Given the description of an element on the screen output the (x, y) to click on. 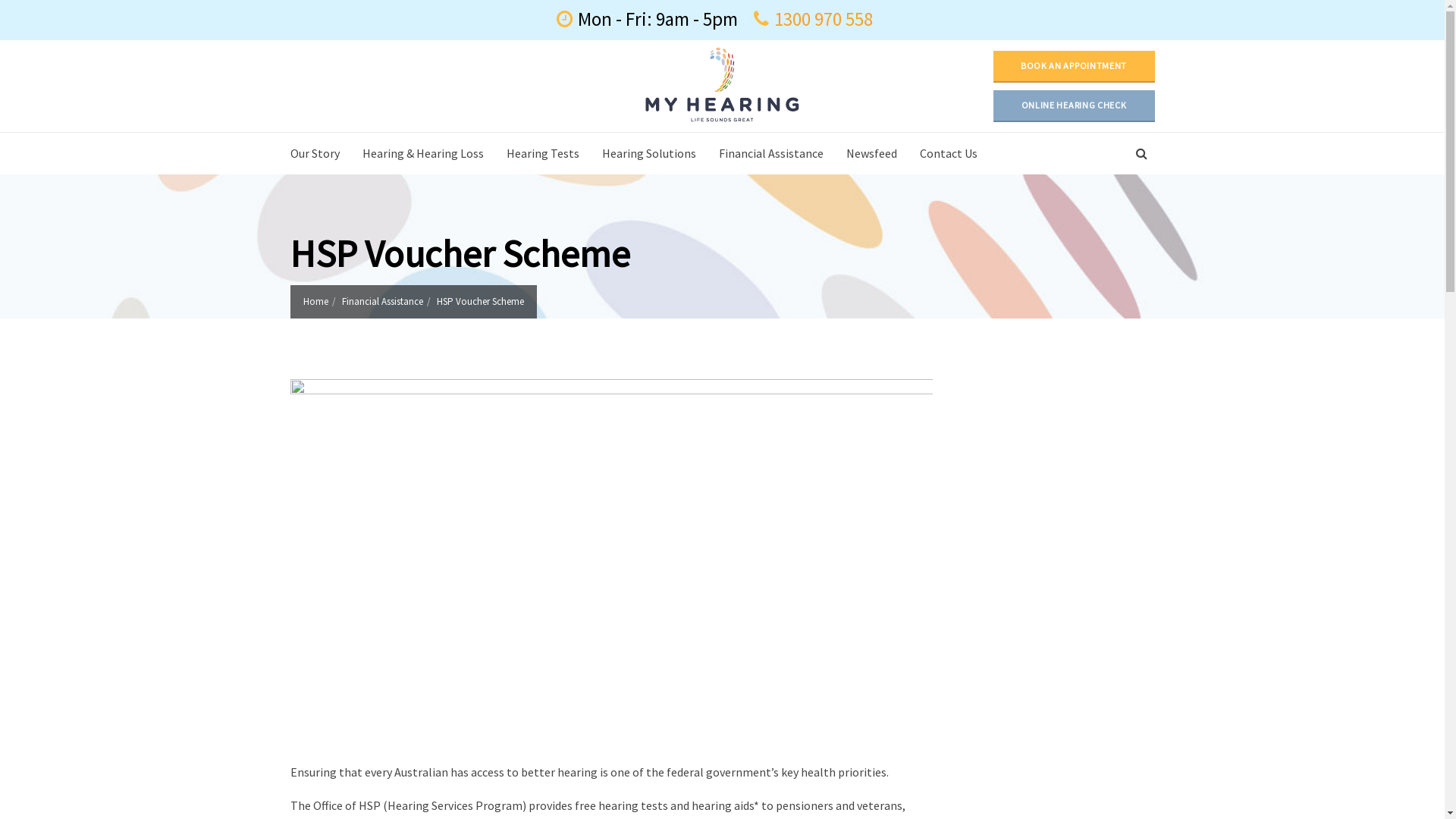
Our Story Element type: text (319, 153)
Financial Assistance Element type: text (770, 153)
Financial Assistance Element type: text (381, 300)
Newsfeed Element type: text (870, 153)
1300 970 558 Element type: text (823, 18)
Hearing Tests Element type: text (541, 153)
My Hearing Centre Element type: hover (722, 83)
Hearing & Hearing Loss Element type: text (422, 153)
ONLINE HEARING CHECK Element type: text (1073, 105)
Home Element type: text (315, 300)
Hearing Solutions Element type: text (647, 153)
Contact Us Element type: text (948, 153)
BOOK AN APPOINTMENT Element type: text (1073, 65)
